Given the description of an element on the screen output the (x, y) to click on. 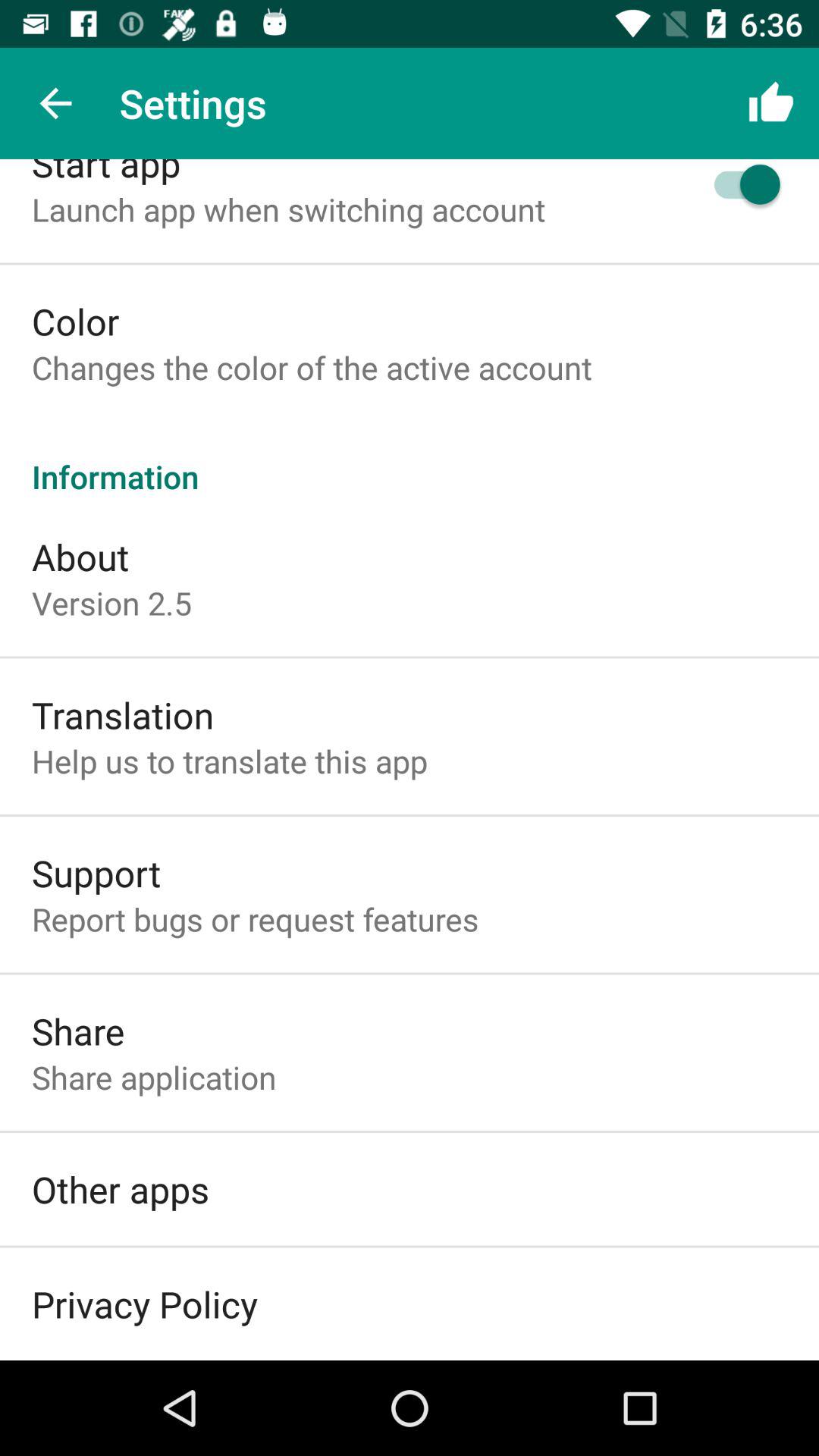
turn on item above the about icon (409, 460)
